Given the description of an element on the screen output the (x, y) to click on. 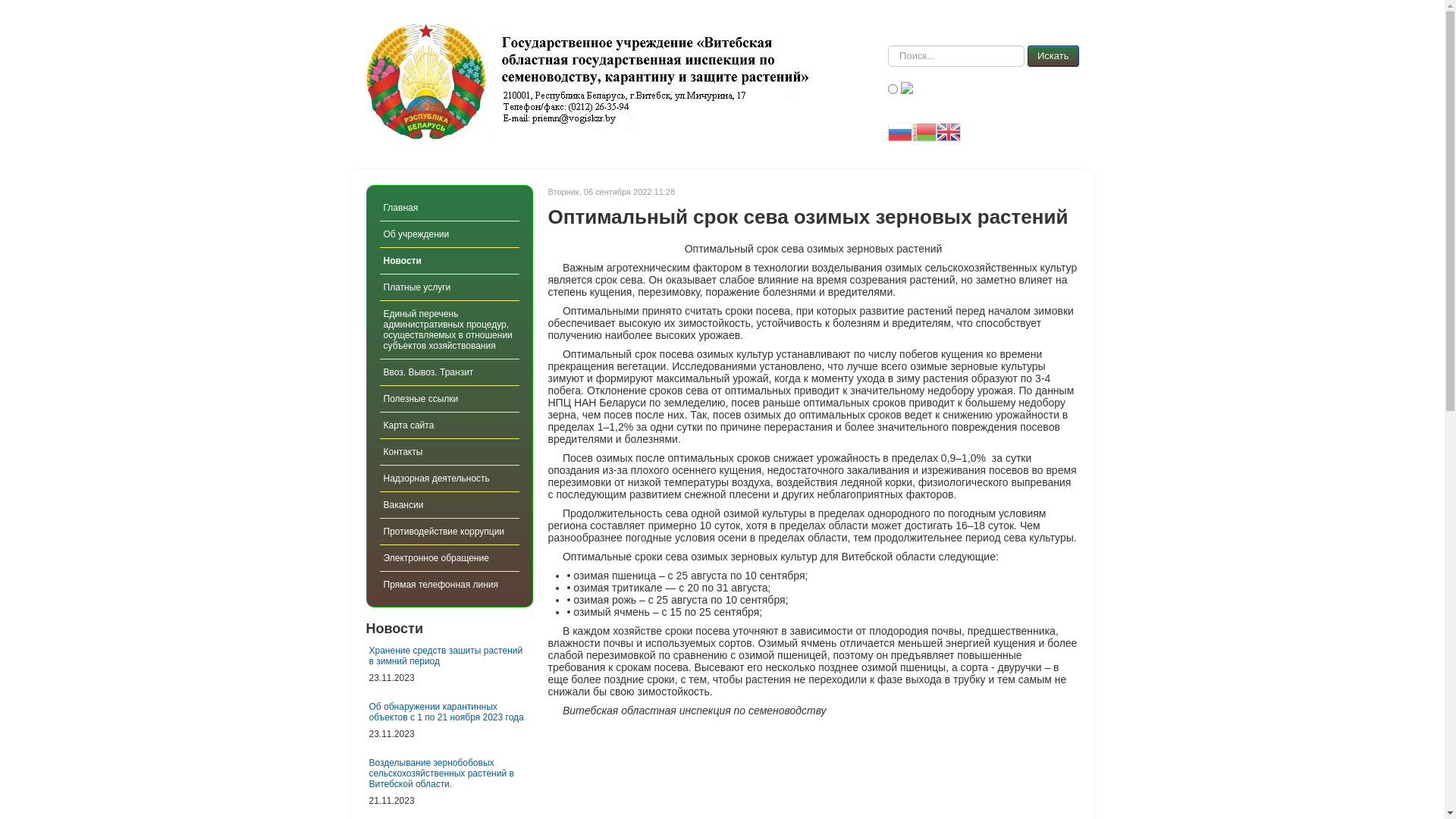
English Element type: hover (948, 131)
